Given the description of an element on the screen output the (x, y) to click on. 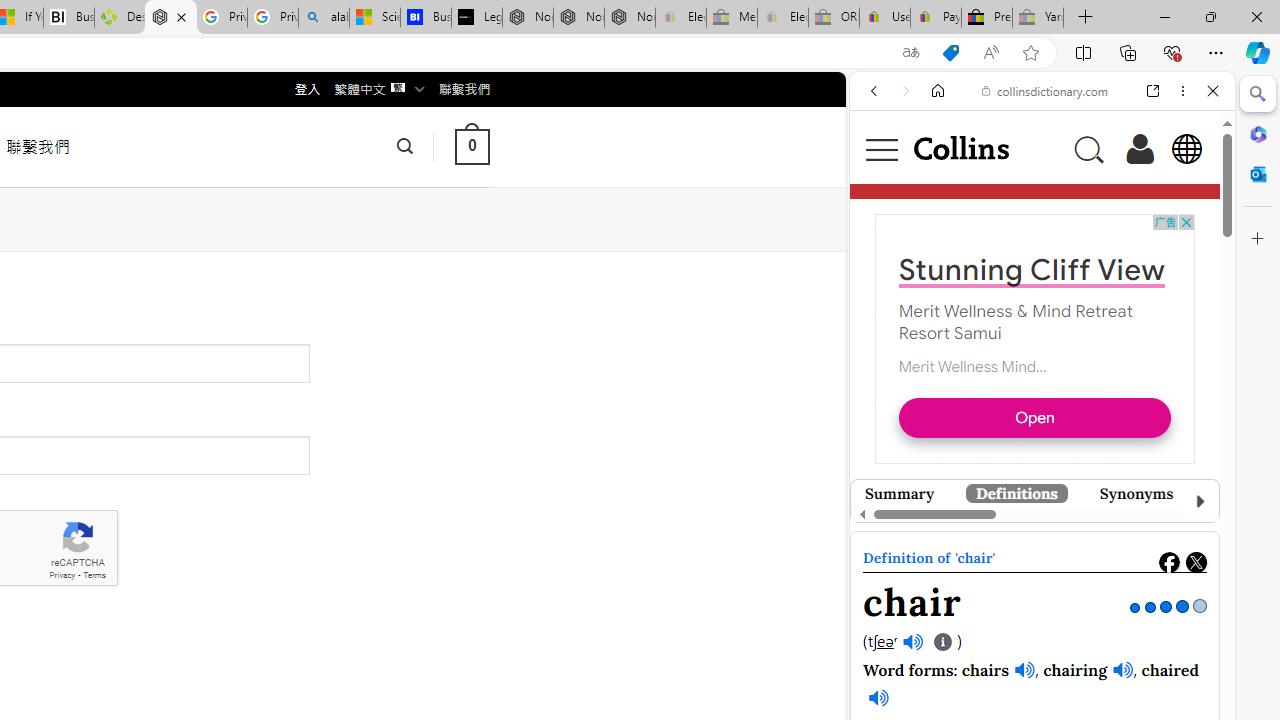
alabama high school quarterback dies - Search (324, 17)
Share this page on Facebook (1169, 562)
pronounce (893, 382)
Synonyms (1136, 493)
seat (965, 501)
IPA Pronunciation Guide (943, 642)
